Given the description of an element on the screen output the (x, y) to click on. 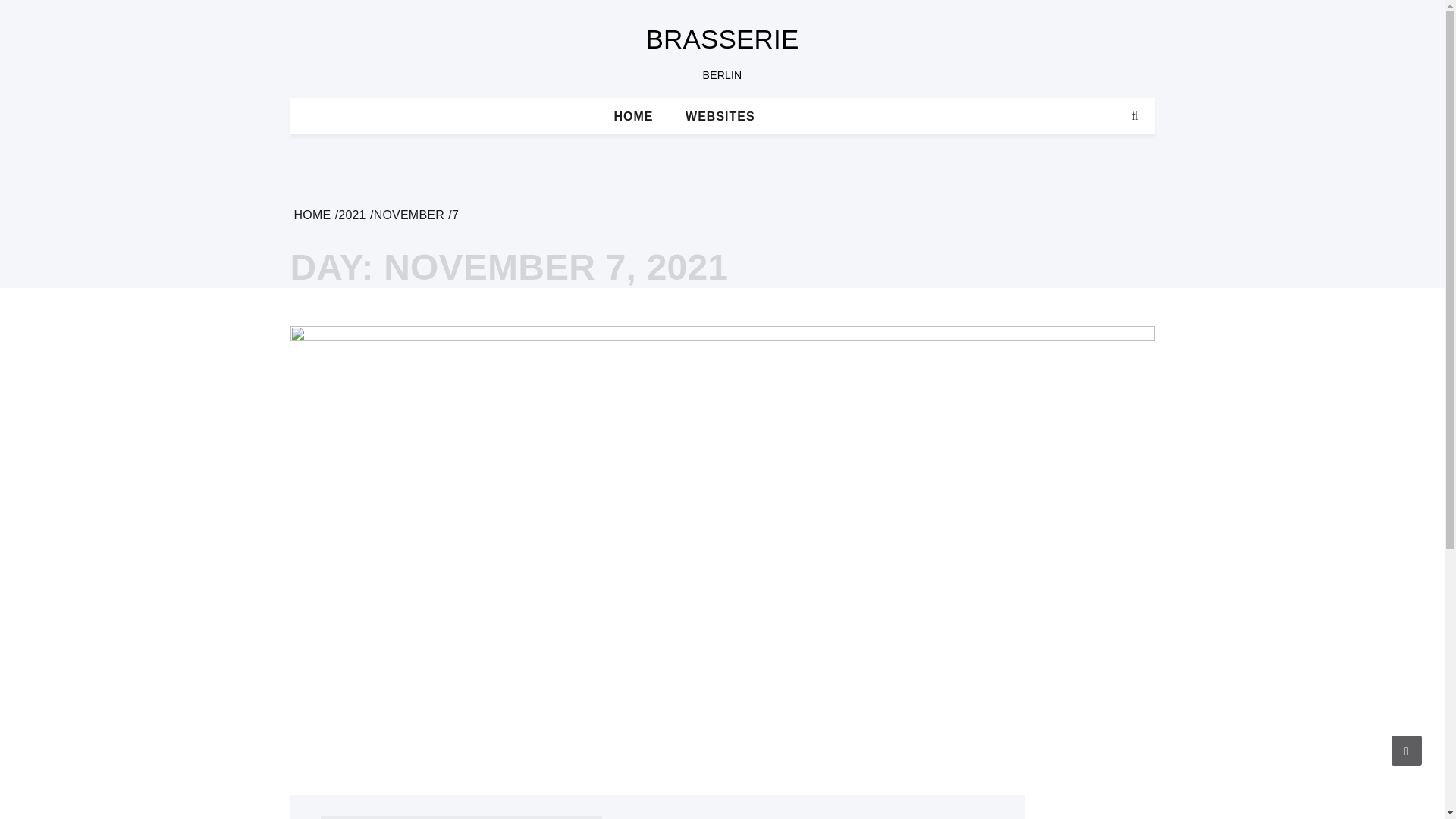
NOVEMBER Element type: text (408, 214)
HOME Element type: text (633, 116)
WEBSITES Element type: text (720, 116)
2021 Element type: text (351, 214)
Search Element type: hover (1134, 115)
HOME Element type: text (312, 214)
BRASSERIE Element type: text (721, 38)
Go to Top Element type: hover (1406, 750)
